Given the description of an element on the screen output the (x, y) to click on. 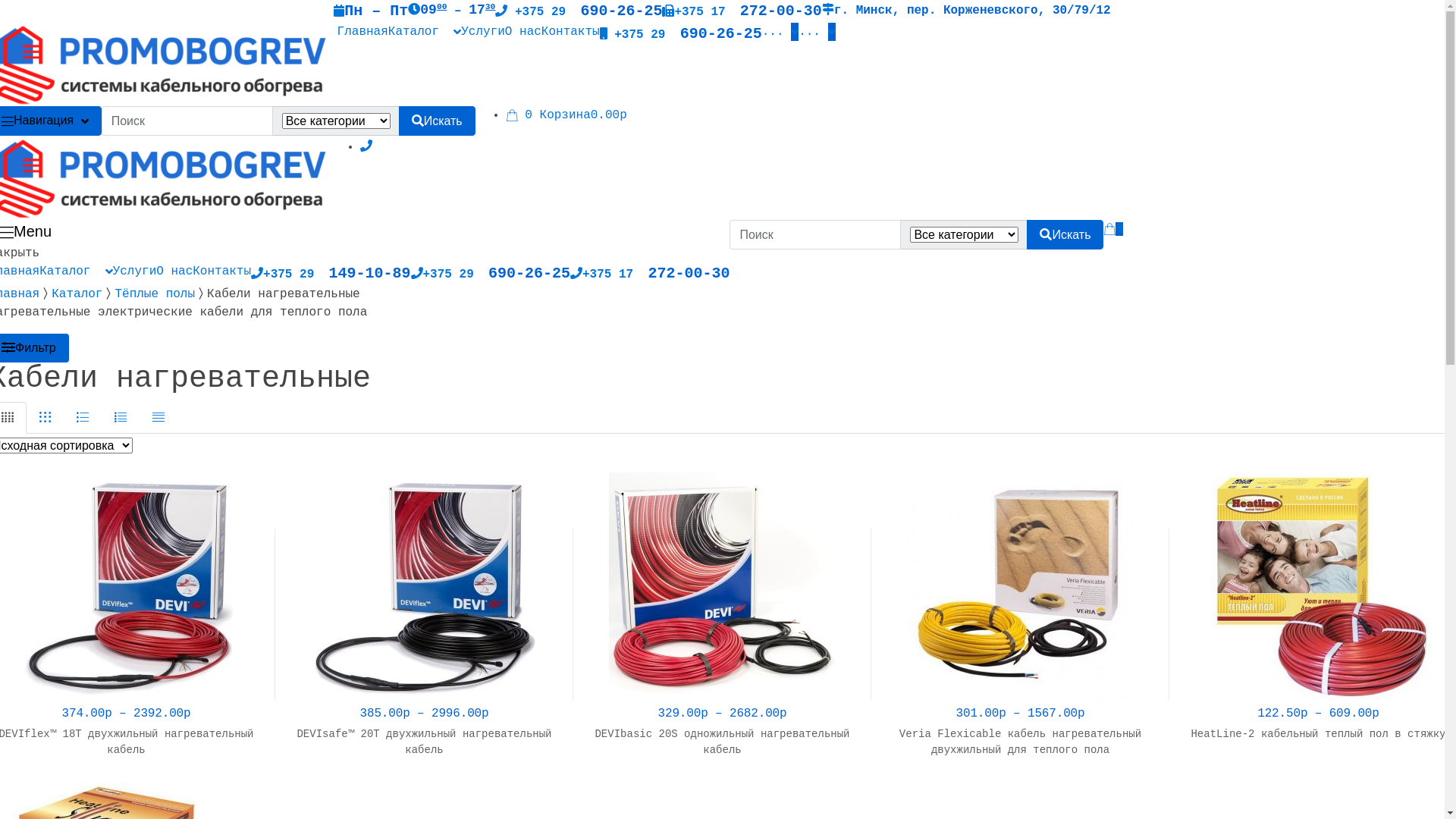
+375 17  272-00-30 Element type: text (741, 11)
List View Large Element type: hover (82, 417)
Grid Extended View Element type: hover (44, 417)
... Element type: text (816, 31)
+375 29  690-26-25 Element type: text (680, 34)
 +375 29  690-26-25 Element type: text (578, 11)
+375 17  272-00-30 Element type: text (649, 274)
List View Element type: hover (120, 417)
List View Small Element type: hover (158, 417)
+375 29  149-10-89 Element type: text (330, 274)
... Element type: text (780, 31)
0 Element type: text (1113, 252)
+375 29  690-26-25 Element type: text (490, 274)
